Given the description of an element on the screen output the (x, y) to click on. 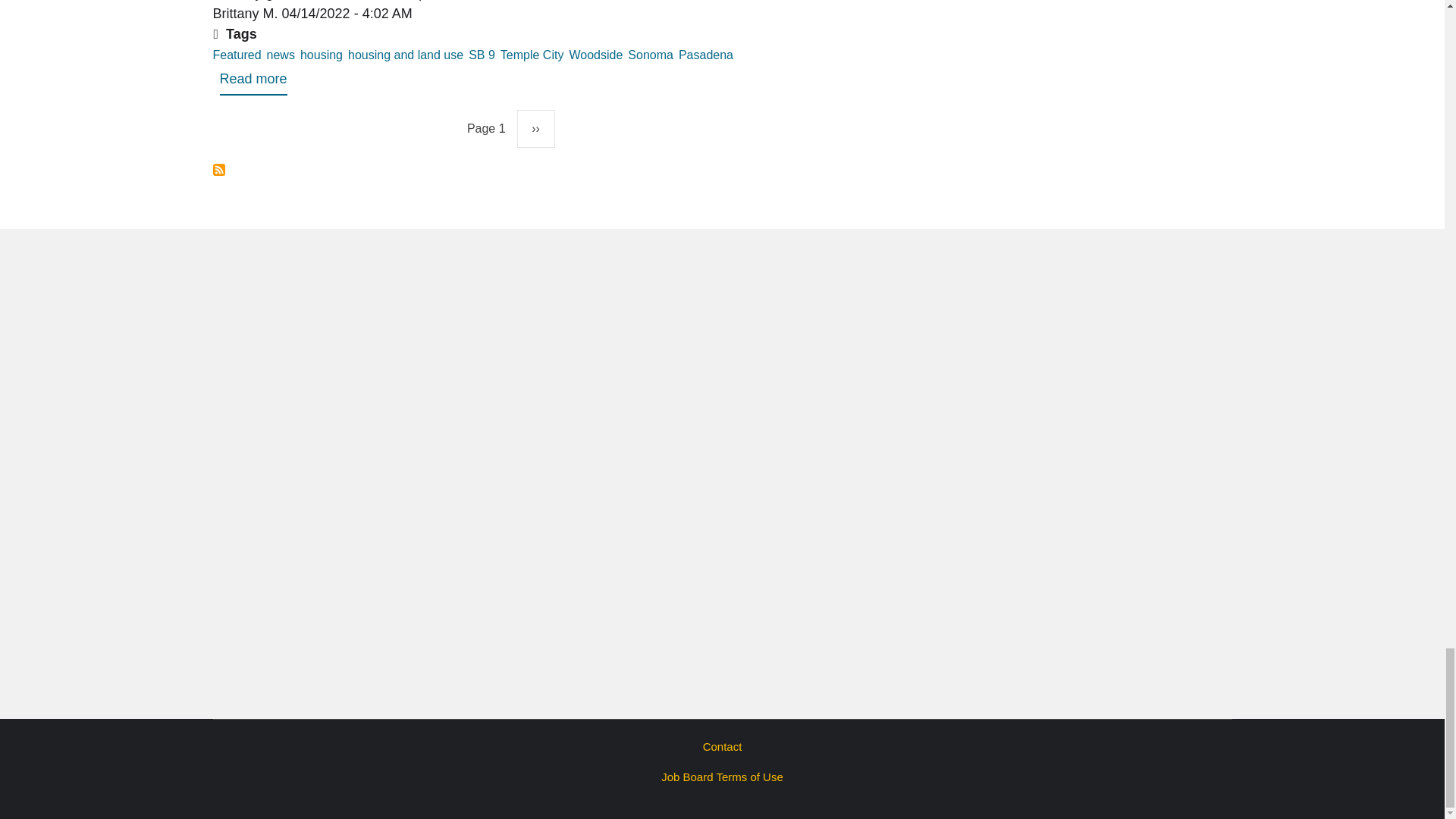
Go to next page (535, 128)
State to Probe 29 Cities for Thwarting SB 9 (252, 81)
